Given the description of an element on the screen output the (x, y) to click on. 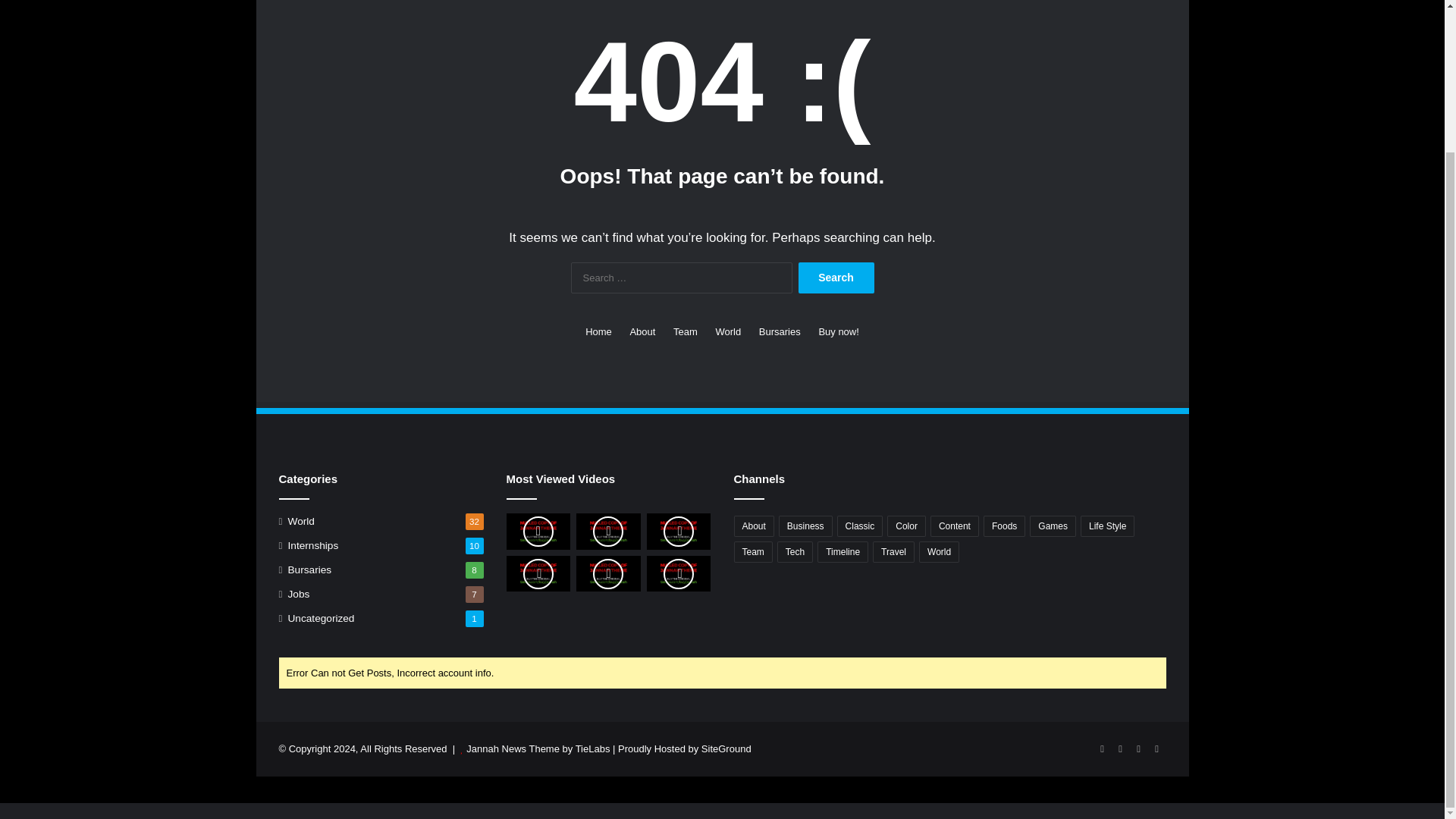
Jobs (299, 593)
Buy now! (838, 331)
About (641, 331)
World (727, 331)
Search (835, 277)
Search (835, 277)
Home (598, 331)
Internships (313, 545)
Bursaries (309, 569)
Team (684, 331)
Search (835, 277)
Buy now! (838, 331)
Bursaries (779, 331)
World (301, 521)
About (753, 526)
